Given the description of an element on the screen output the (x, y) to click on. 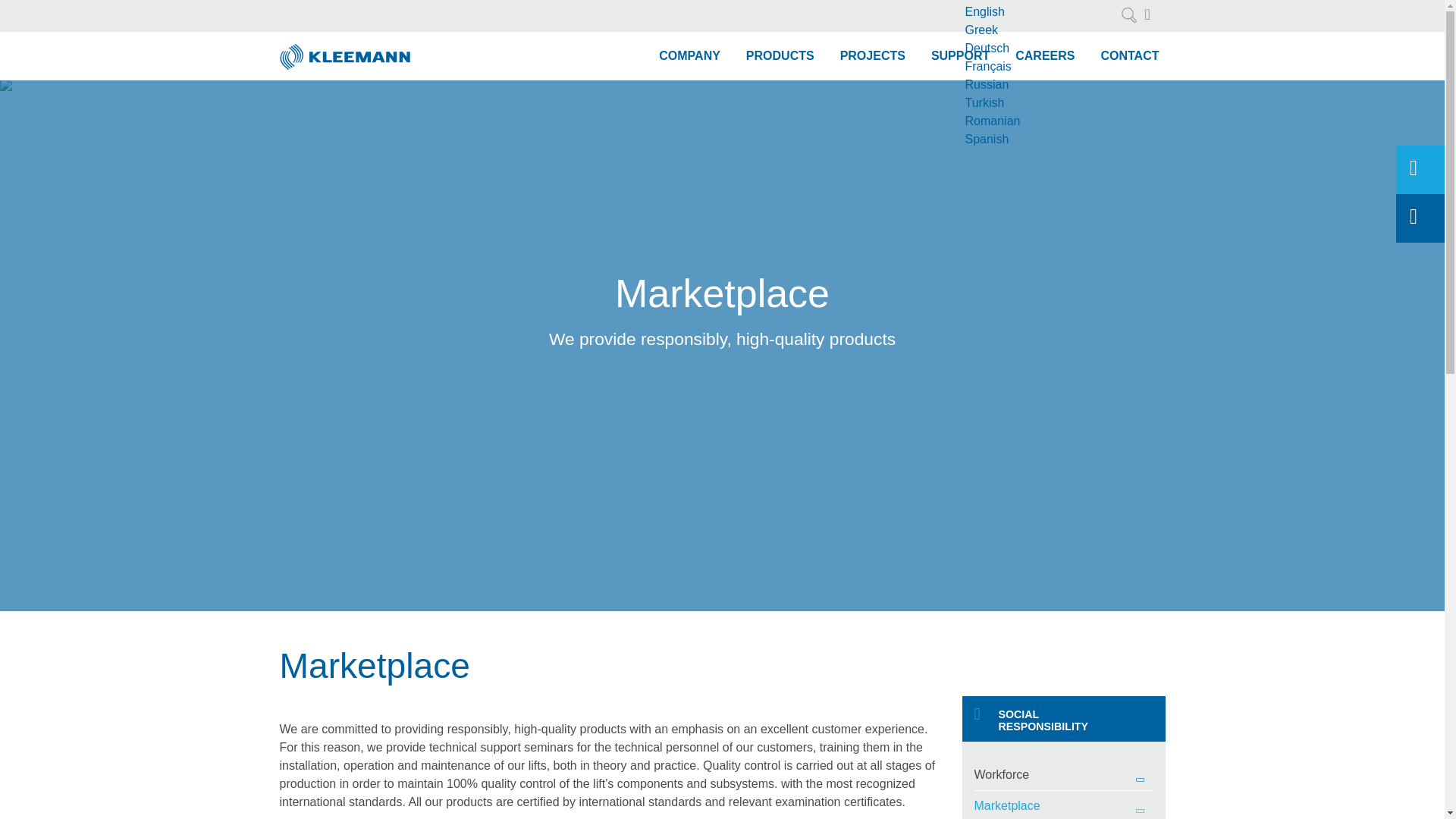
Deutsch (1039, 48)
Greek (1039, 30)
Home (345, 50)
Turkish (1039, 103)
Search (1128, 15)
Spanish (1039, 139)
Search (1128, 15)
PRODUCTS (780, 55)
COMPANY (689, 55)
Romanian (1039, 121)
English (1039, 12)
Russian (1039, 85)
